Given the description of an element on the screen output the (x, y) to click on. 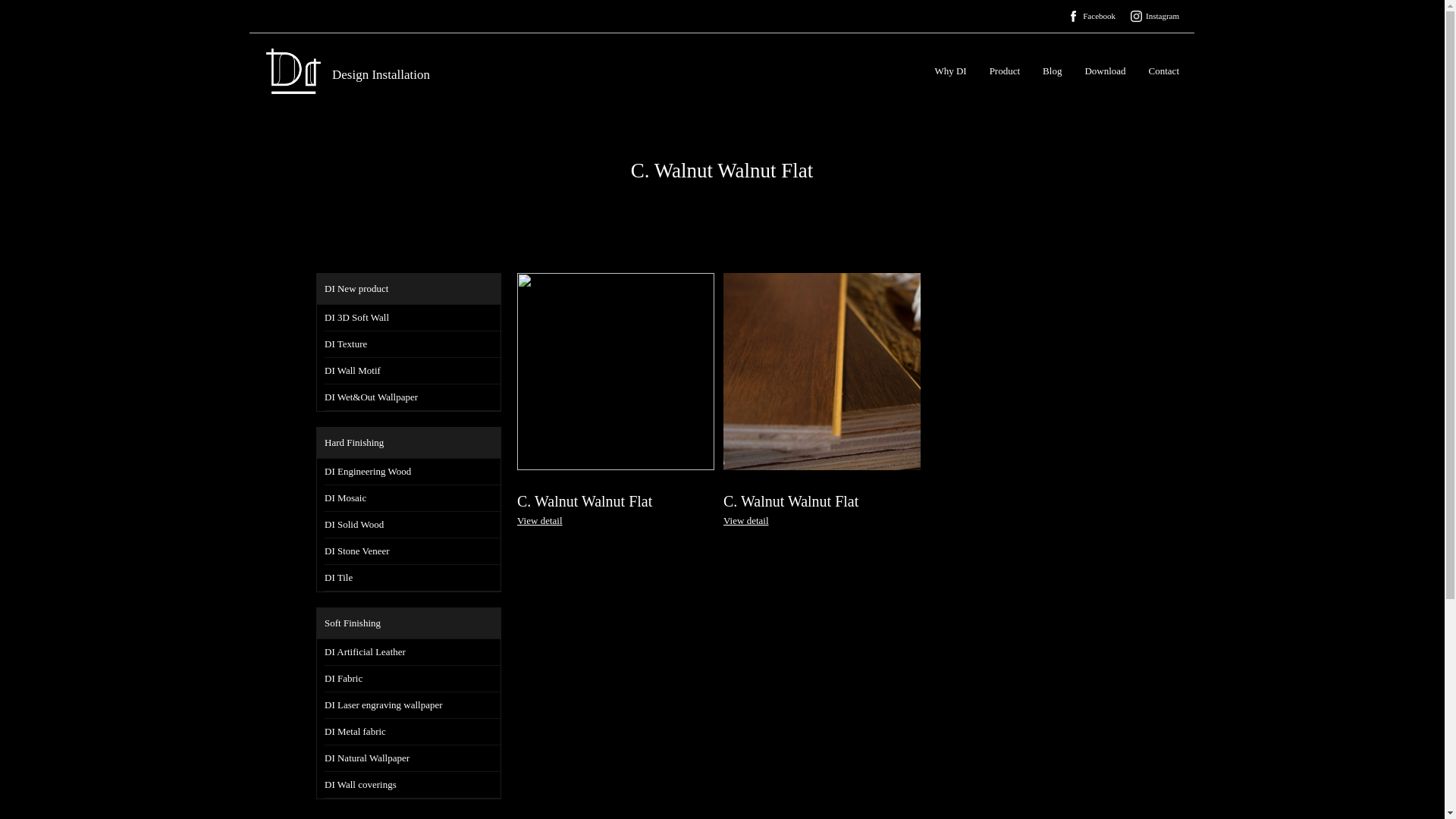
DI Engineering Wood Element type: text (412, 471)
DI Solid Wood Element type: text (412, 524)
DI Wall Motif Element type: text (412, 370)
DI Wall coverings Element type: text (412, 784)
DI Tile Element type: text (412, 577)
DI Artificial Leather Element type: text (412, 652)
View detail Element type: text (745, 520)
DI Laser engraving wallpaper Element type: text (412, 705)
DI Fabric Element type: text (412, 678)
Contact Element type: text (1163, 70)
DI Natural Wallpaper Element type: text (412, 758)
Product Element type: text (1004, 70)
Blog Element type: text (1051, 70)
Why DI Element type: text (950, 70)
DI New product Element type: text (408, 288)
Instagram Element type: text (1162, 15)
Download Element type: text (1104, 70)
DI Metal fabric Element type: text (412, 731)
DI Wet&Out Wallpaper Element type: text (412, 397)
DI 3D Soft Wall Element type: text (412, 317)
DI Texture Element type: text (412, 344)
Hard Finishing Element type: text (408, 442)
Facebook Element type: text (1098, 15)
DI Stone Veneer Element type: text (412, 551)
Soft Finishing Element type: text (408, 623)
DI Mosaic Element type: text (412, 498)
View detail Element type: text (539, 520)
